Given the description of an element on the screen output the (x, y) to click on. 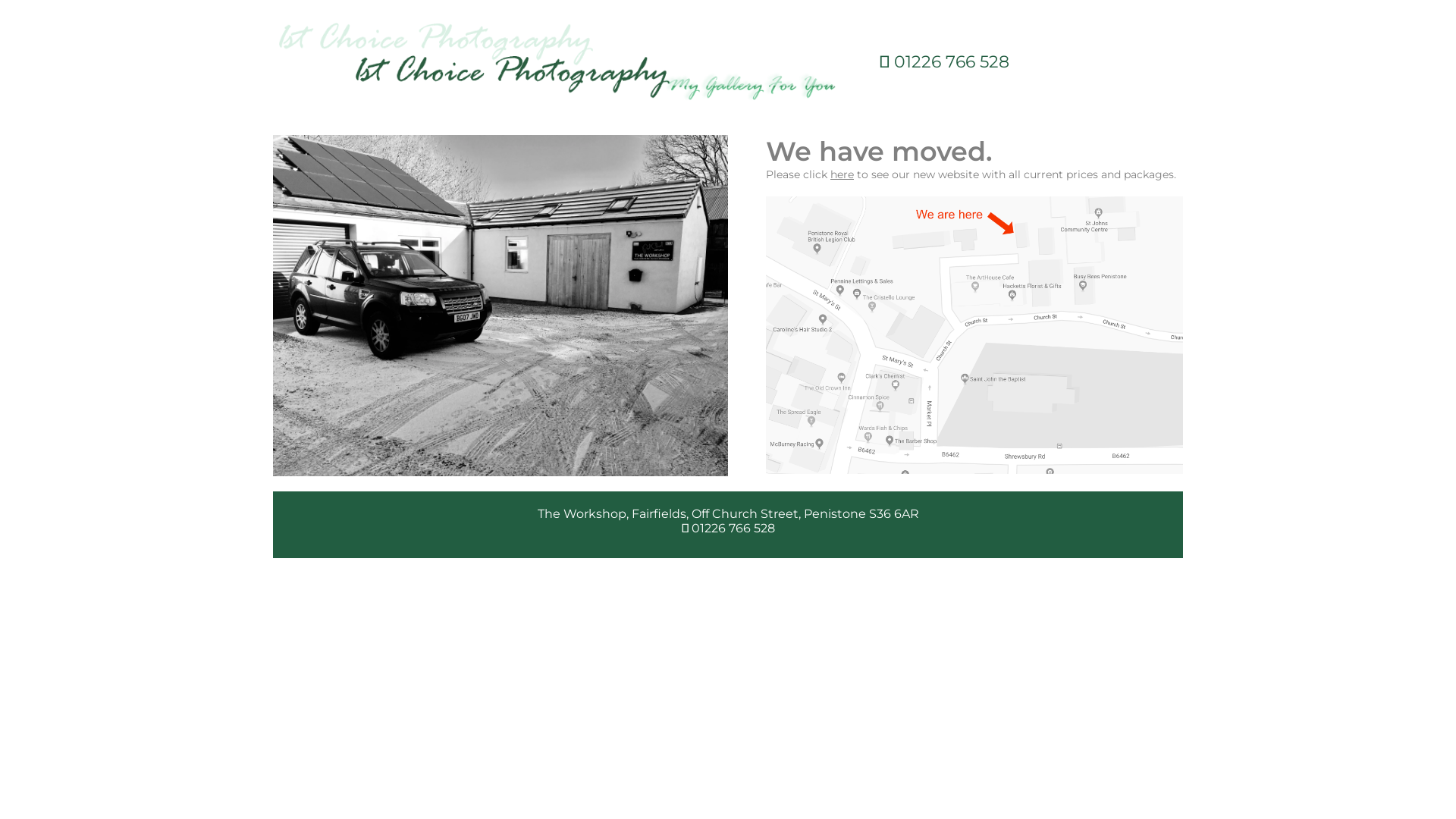
here Element type: text (841, 174)
